Given the description of an element on the screen output the (x, y) to click on. 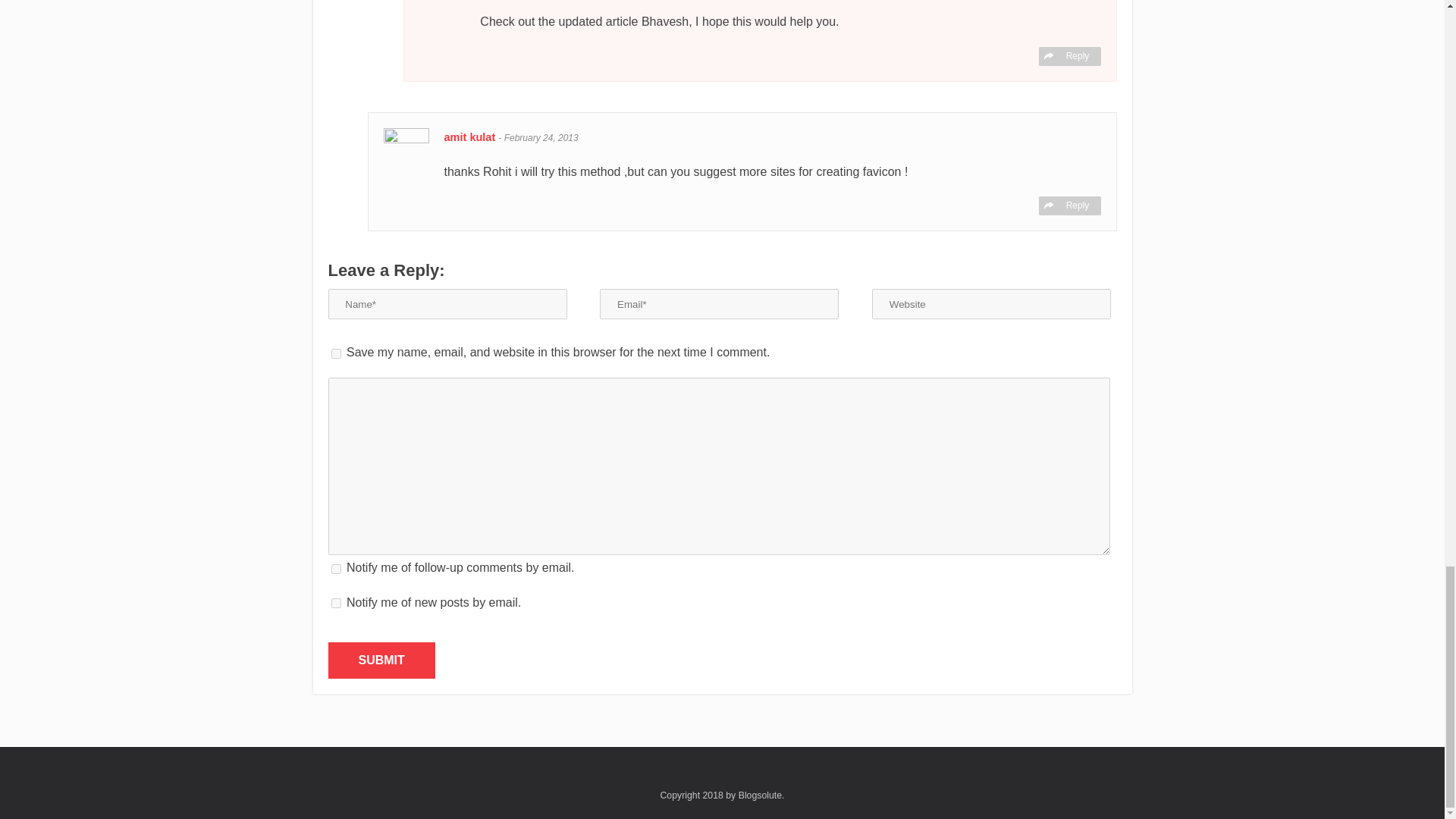
SUBMIT (380, 660)
SUBMIT (380, 660)
subscribe (335, 603)
amit kulat (471, 137)
Reply (1069, 56)
Reply (1069, 205)
yes (335, 353)
subscribe (335, 569)
